Given the description of an element on the screen output the (x, y) to click on. 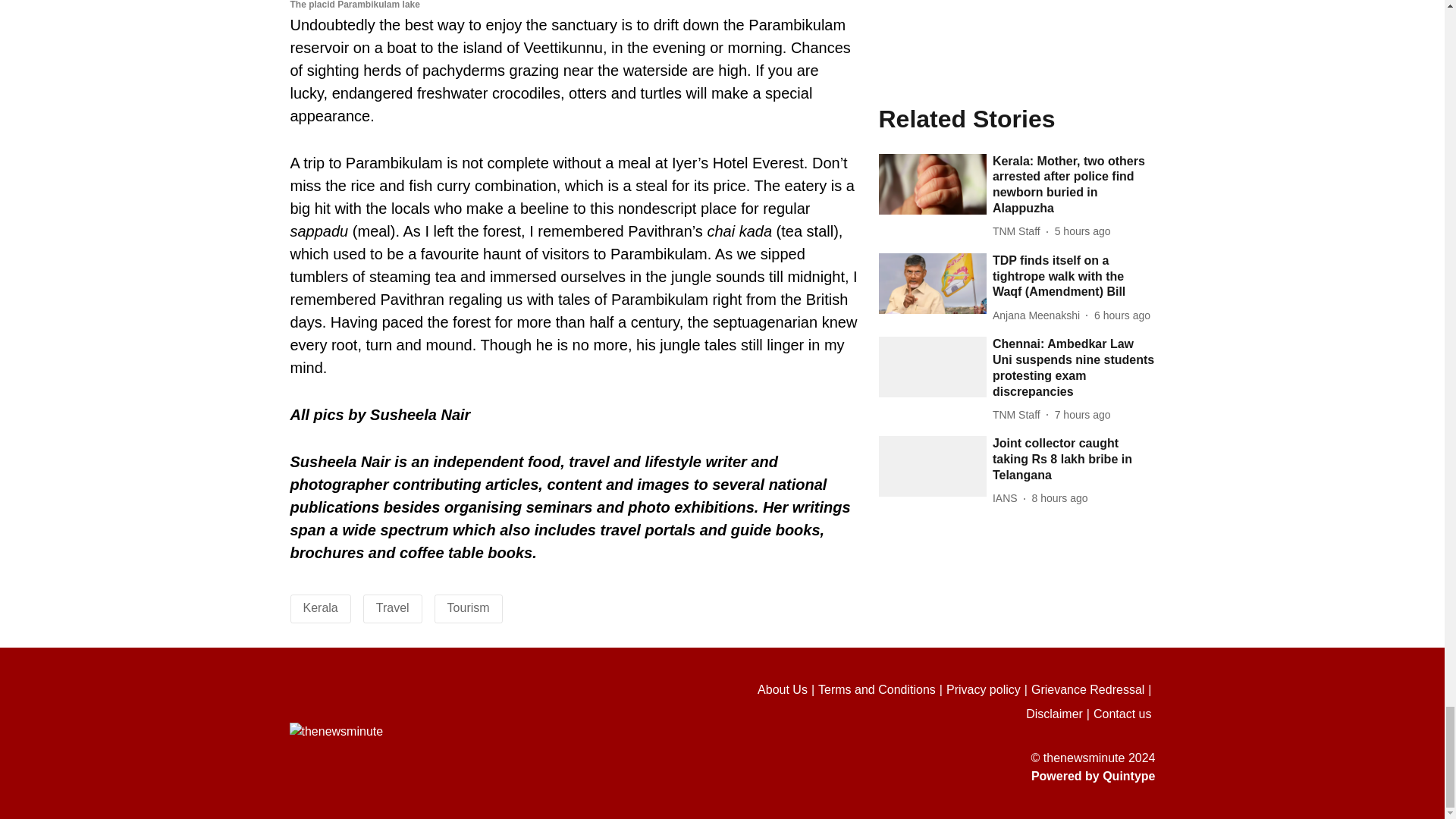
Tourism (467, 607)
Kerala (319, 607)
Travel (392, 607)
